Given the description of an element on the screen output the (x, y) to click on. 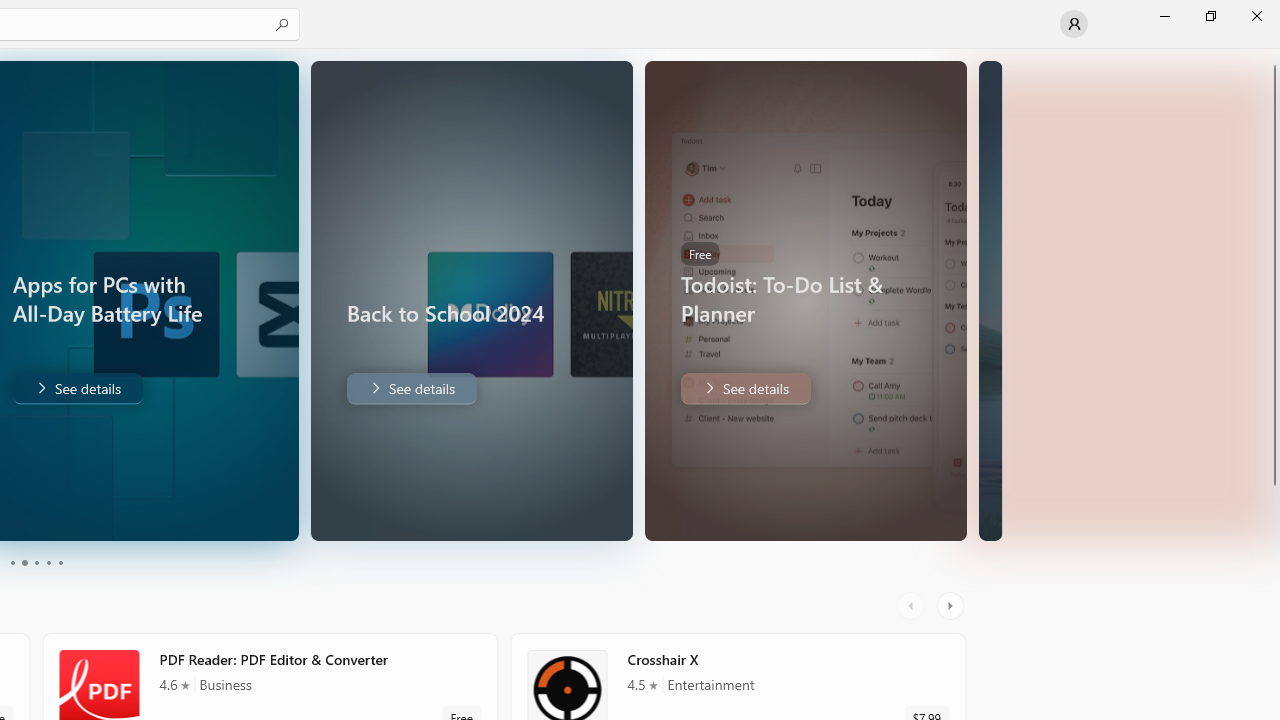
AutomationID: RightScrollButton (952, 409)
Vertical Small Decrease (1272, 55)
Close Microsoft Store (1256, 15)
AutomationID: LeftScrollButton (913, 409)
User profile (1073, 24)
Concepts. Average rating of 4.5 out of five stars. Free   (854, 548)
Vertical Large Decrease (1272, 253)
Restore Microsoft Store (1210, 15)
Pic Collage. Average rating of 4.8 out of five stars. Free   (641, 194)
Minimize Microsoft Store (1164, 15)
